Given the description of an element on the screen output the (x, y) to click on. 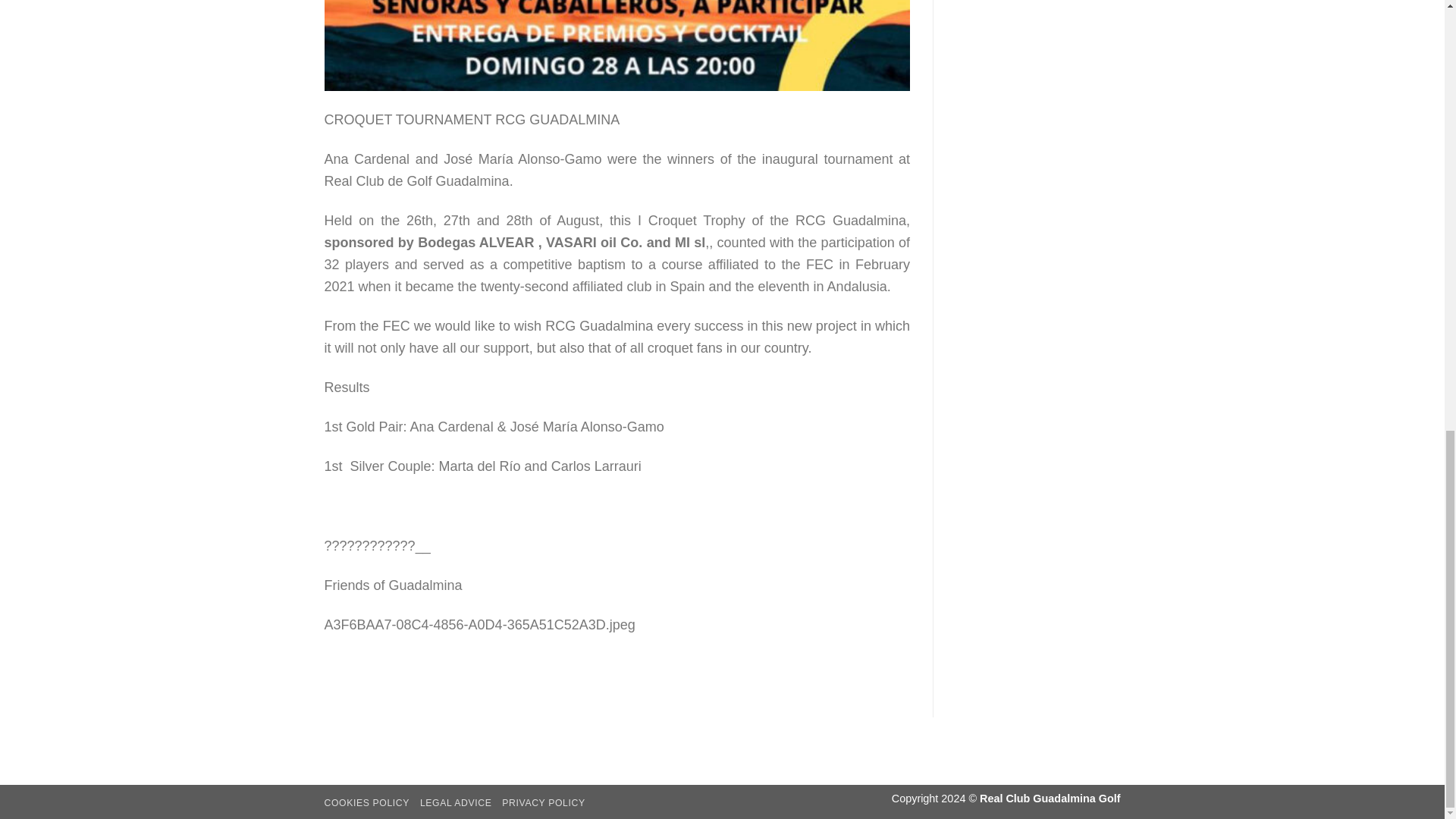
PRIVACY POLICY (543, 802)
COOKIES POLICY (367, 802)
LEGAL ADVICE (456, 802)
